Given the description of an element on the screen output the (x, y) to click on. 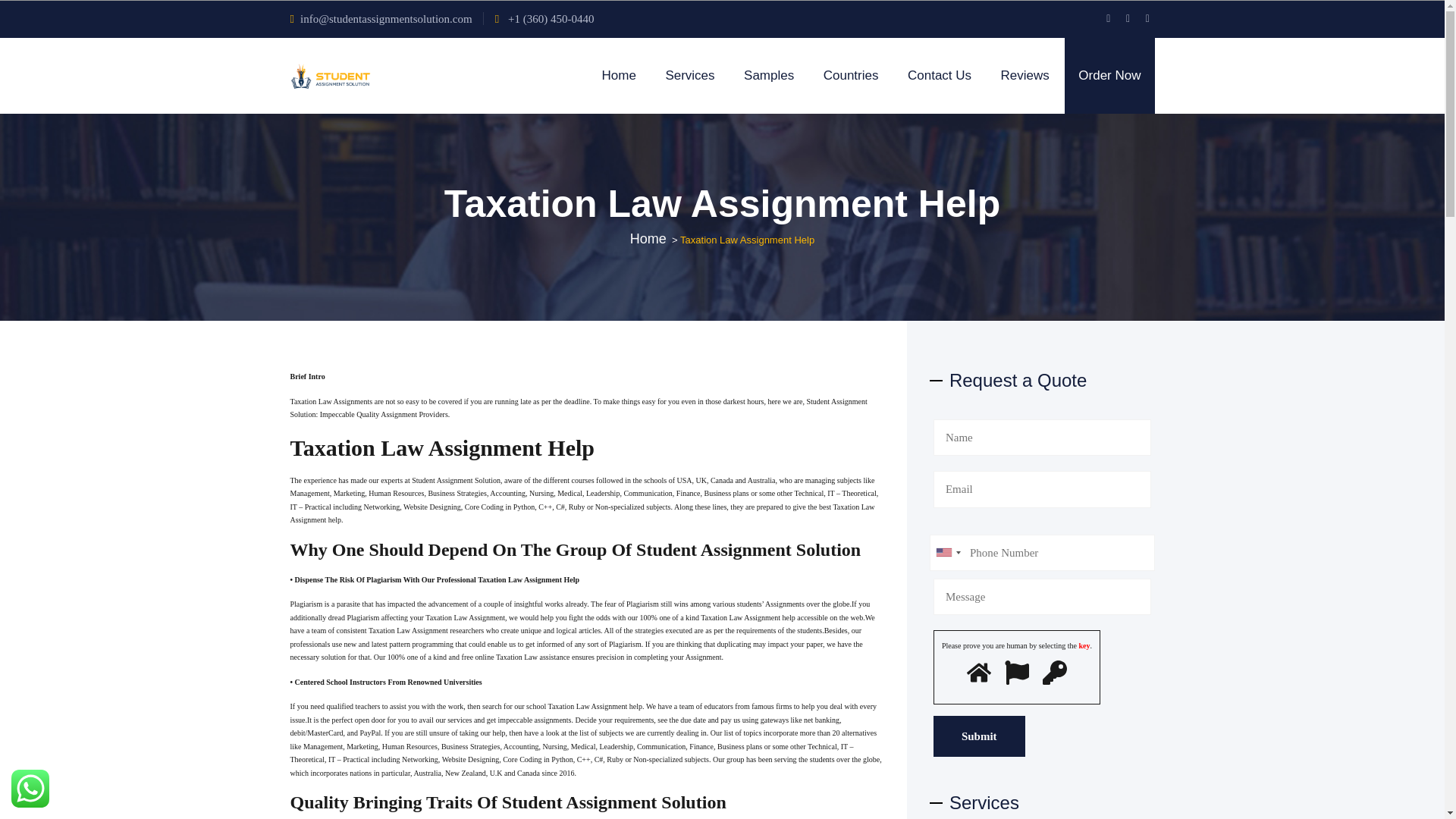
Services (689, 75)
Samples (769, 75)
Submit (979, 735)
Countries (850, 75)
